Given the description of an element on the screen output the (x, y) to click on. 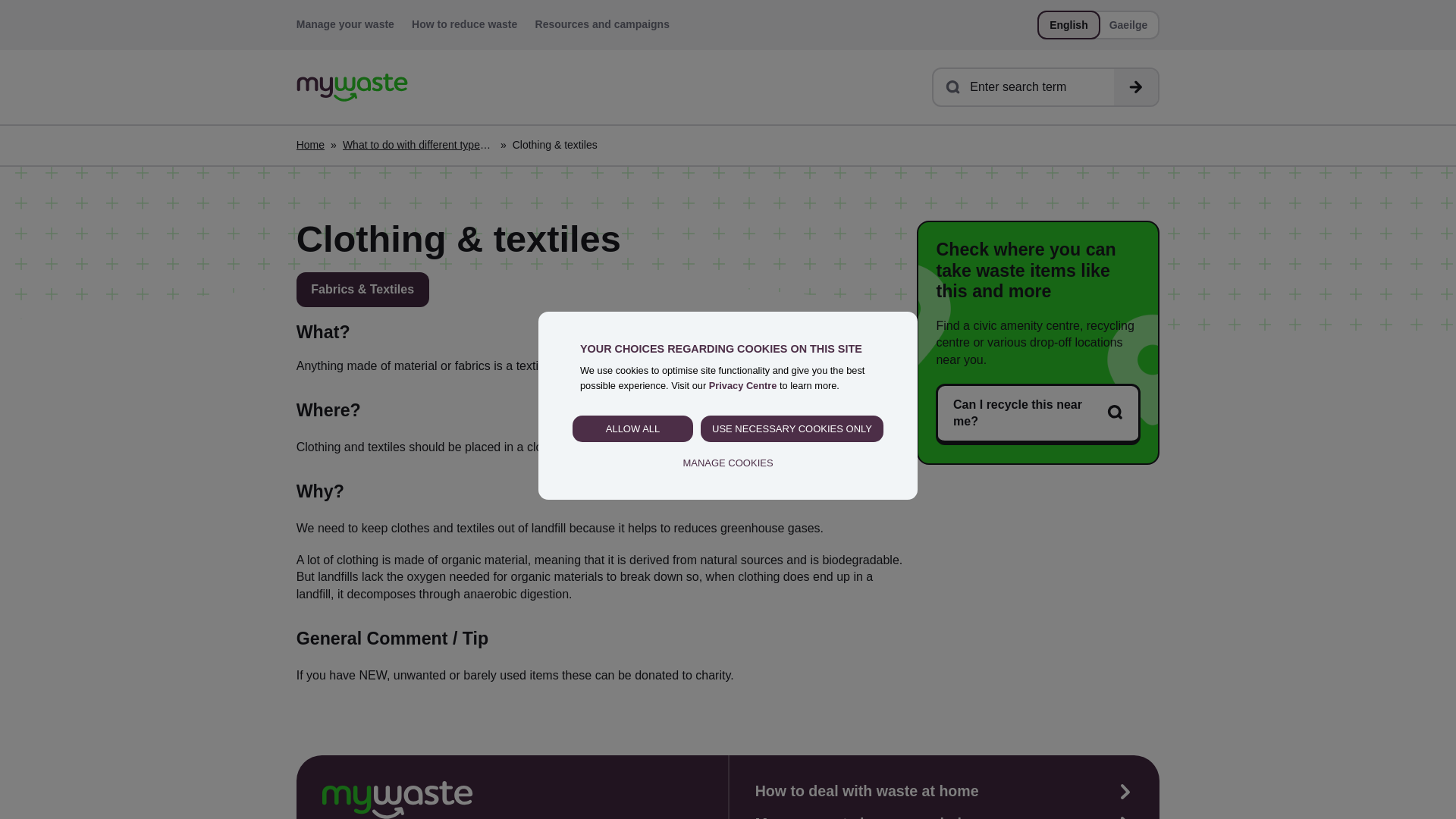
Home (310, 145)
What to do with different types of waste (418, 145)
Manage waste in your workplace (871, 816)
Gaeilge (1129, 25)
USE NECESSARY COOKIES ONLY (791, 429)
How to reduce waste (464, 24)
Manage your waste (345, 24)
Resources and campaigns (602, 24)
Home (352, 87)
Can I recycle this near me? (1038, 414)
How to deal with waste at home (866, 791)
English (1069, 25)
Search (1135, 86)
ALLOW ALL (632, 429)
Privacy Centre (743, 384)
